Given the description of an element on the screen output the (x, y) to click on. 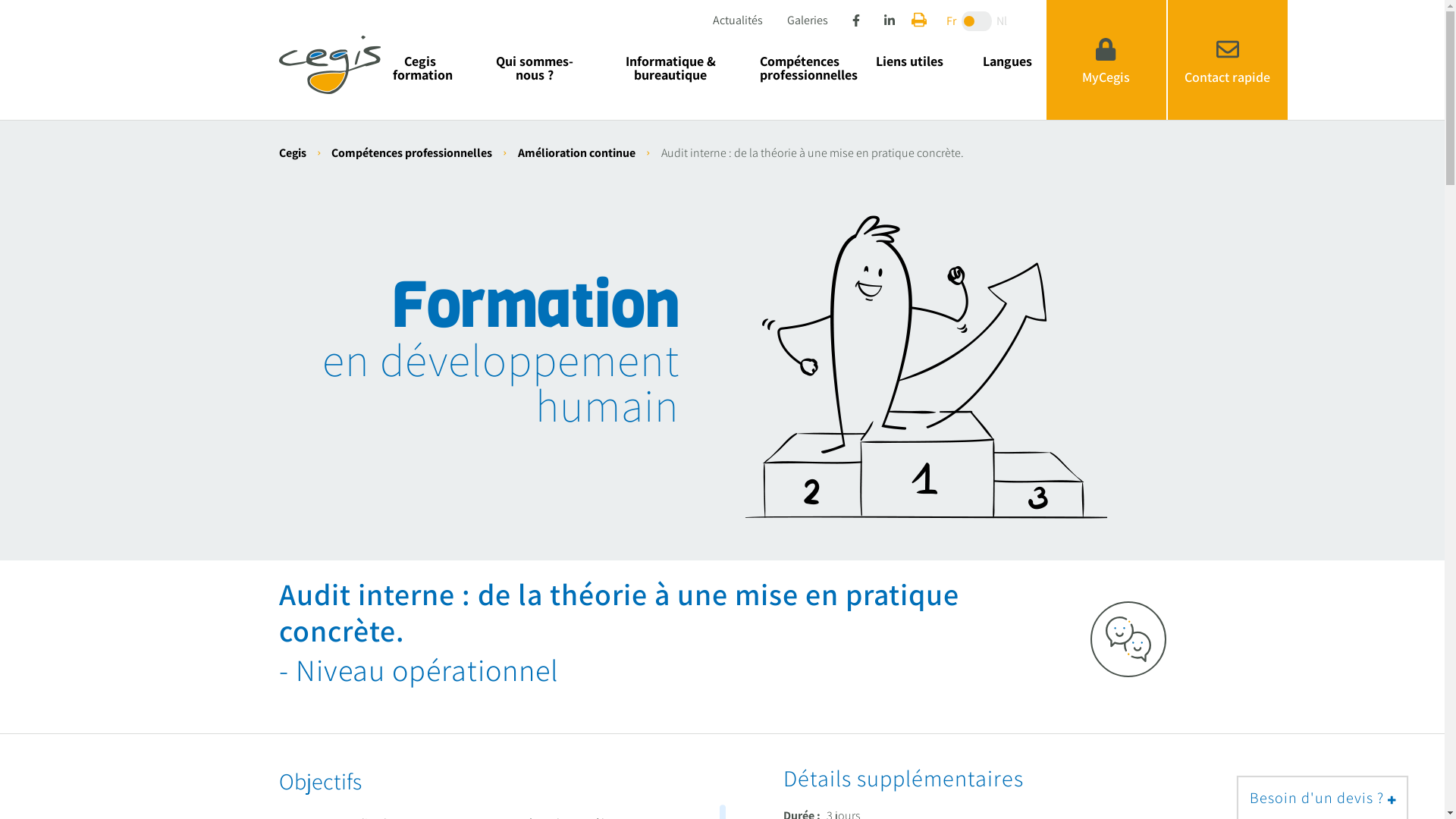
Accueil Element type: hover (329, 64)
Impression Element type: text (918, 19)
Langues Element type: text (1007, 68)
Contact rapide Element type: text (1227, 59)
Aller au contenu principal Element type: text (0, 0)
Cegis Element type: text (292, 152)
Fr Element type: text (961, 21)
MyCegis Element type: text (1106, 59)
Galeries Element type: text (807, 18)
Informatique & bureautique Element type: text (669, 68)
Besoin d'un devis ? Element type: text (1322, 797)
Cegis formation Element type: text (420, 68)
Liens utiles Element type: text (909, 68)
Nl Element type: text (991, 21)
Qui sommes-nous ? Element type: text (534, 68)
